Given the description of an element on the screen output the (x, y) to click on. 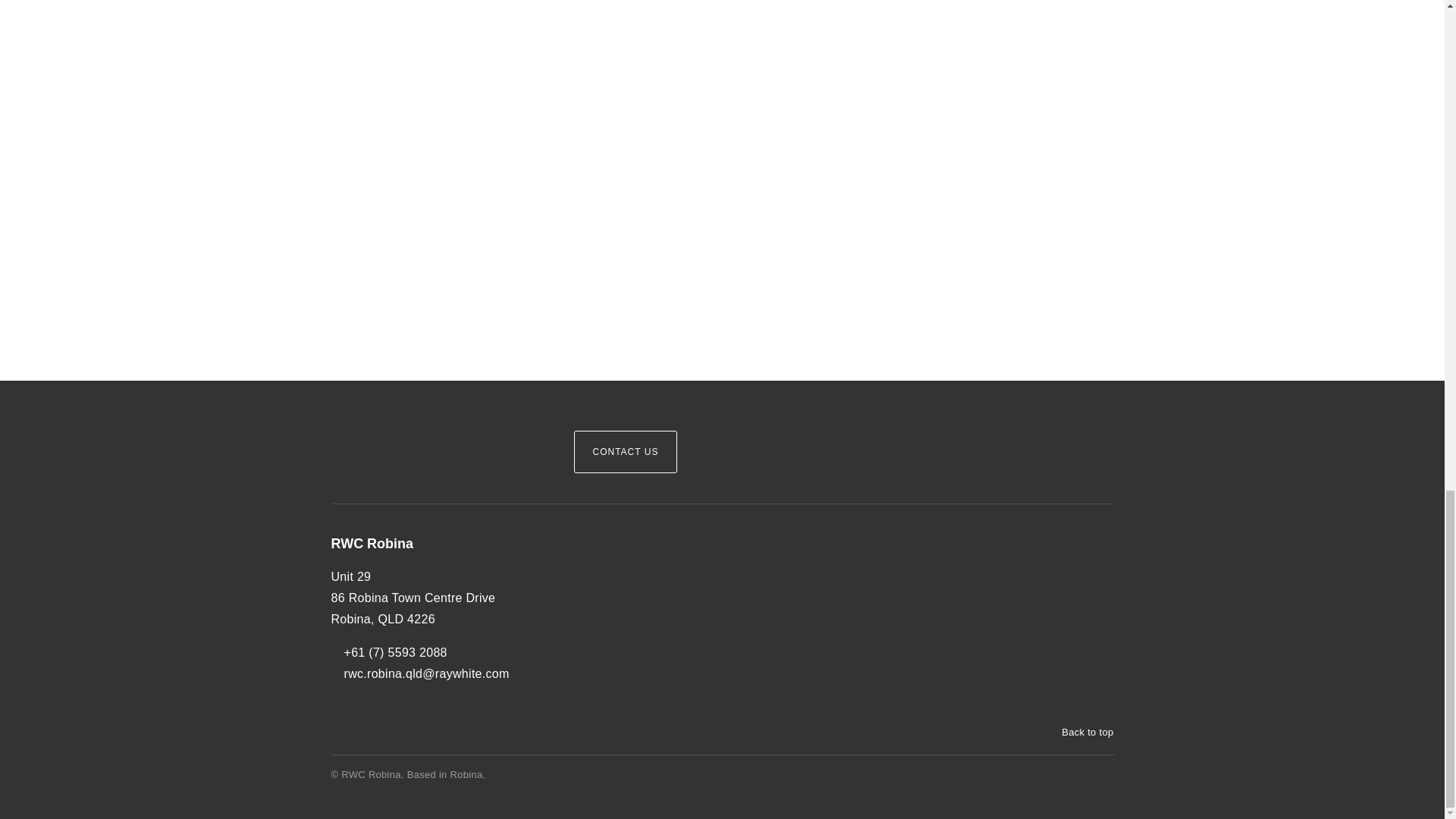
RWC Robina (439, 544)
Back to top (1079, 732)
Ray White (376, 425)
CONTACT US (625, 451)
